Given the description of an element on the screen output the (x, y) to click on. 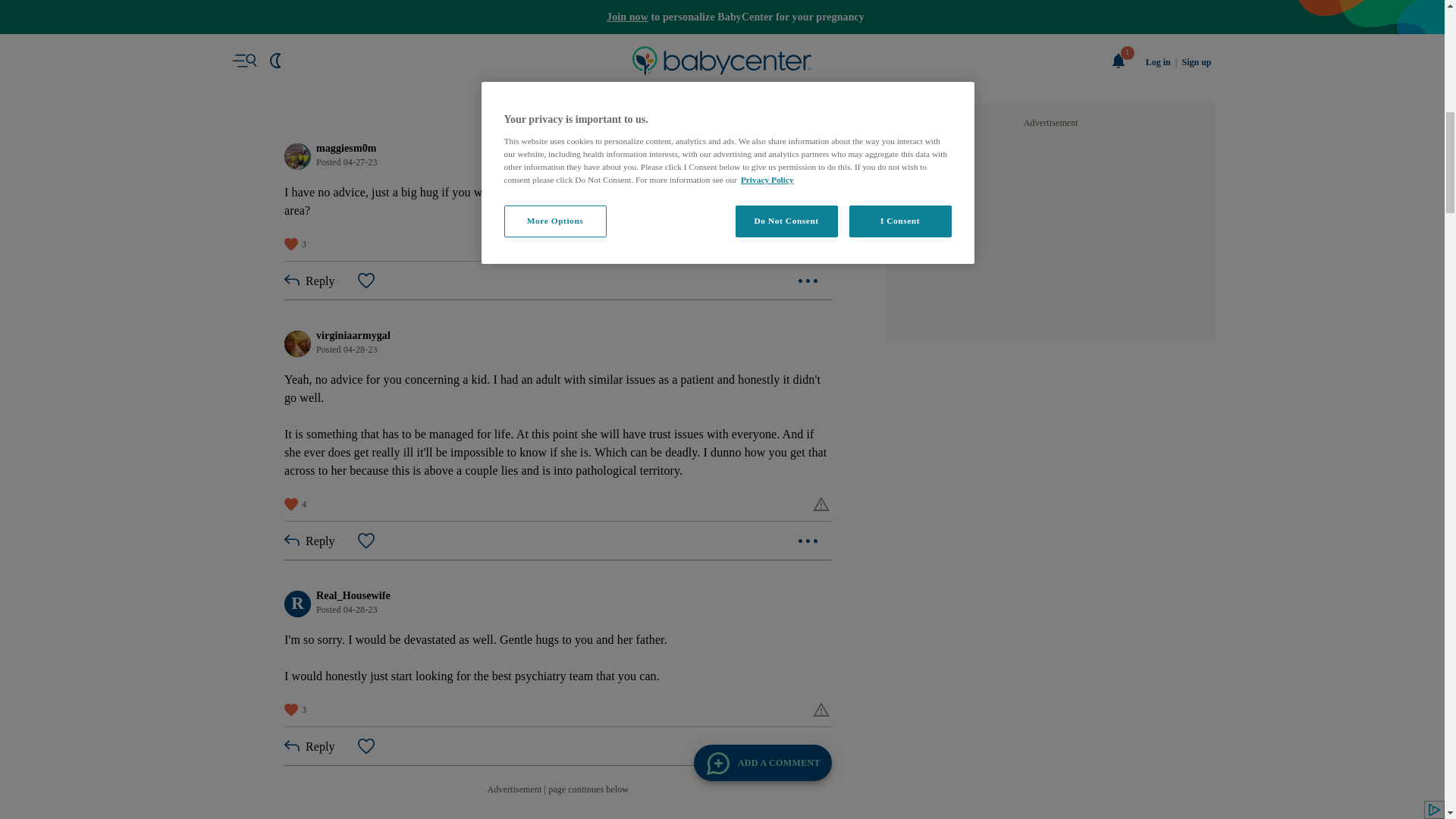
1 (541, 110)
Go to page number (541, 110)
